Given the description of an element on the screen output the (x, y) to click on. 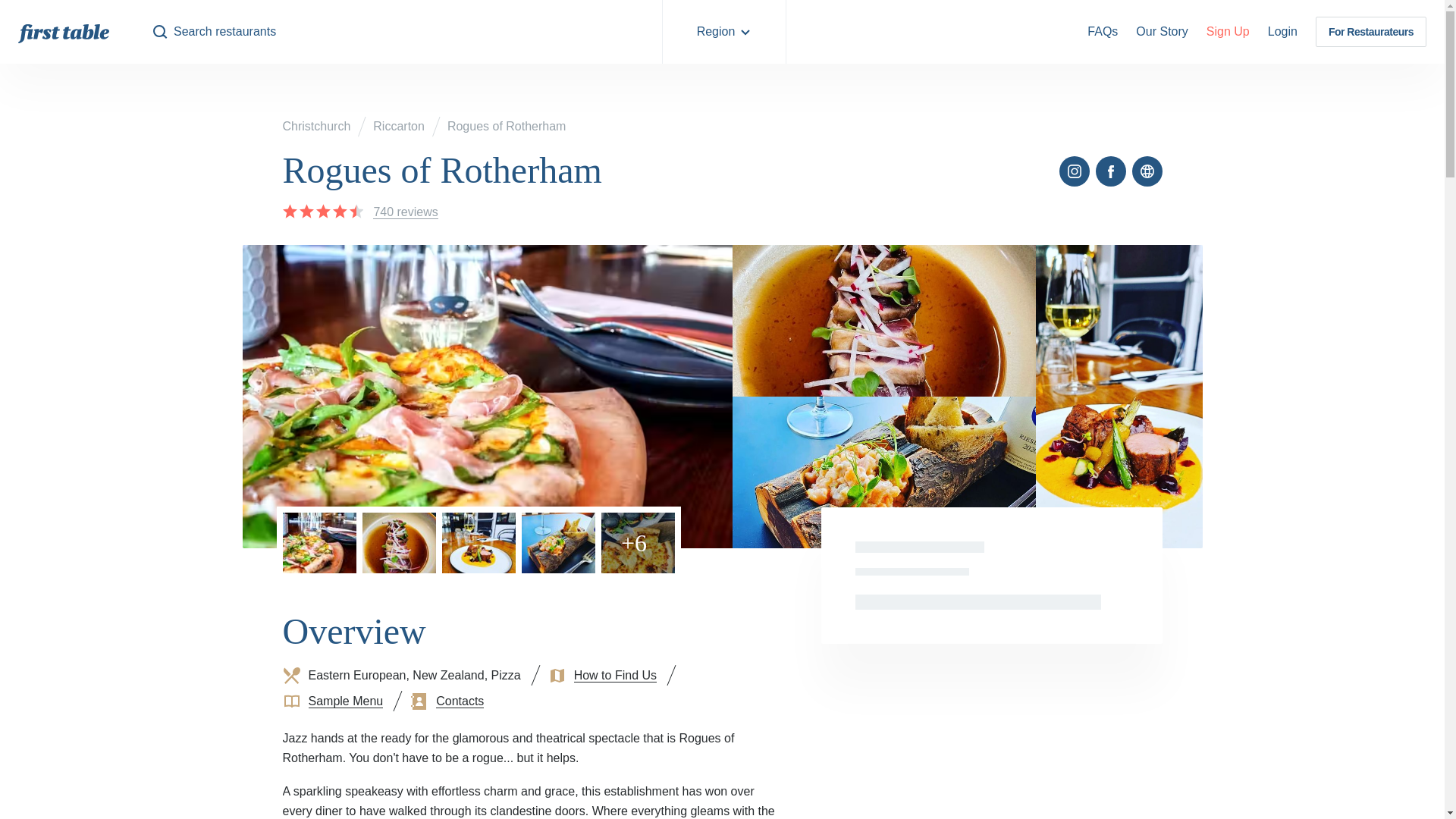
For Restaurateurs (1371, 31)
Riccarton (398, 125)
FAQs (1102, 31)
Rogues of Rotherham (506, 125)
Christchurch (316, 125)
Our Story (1161, 31)
